Given the description of an element on the screen output the (x, y) to click on. 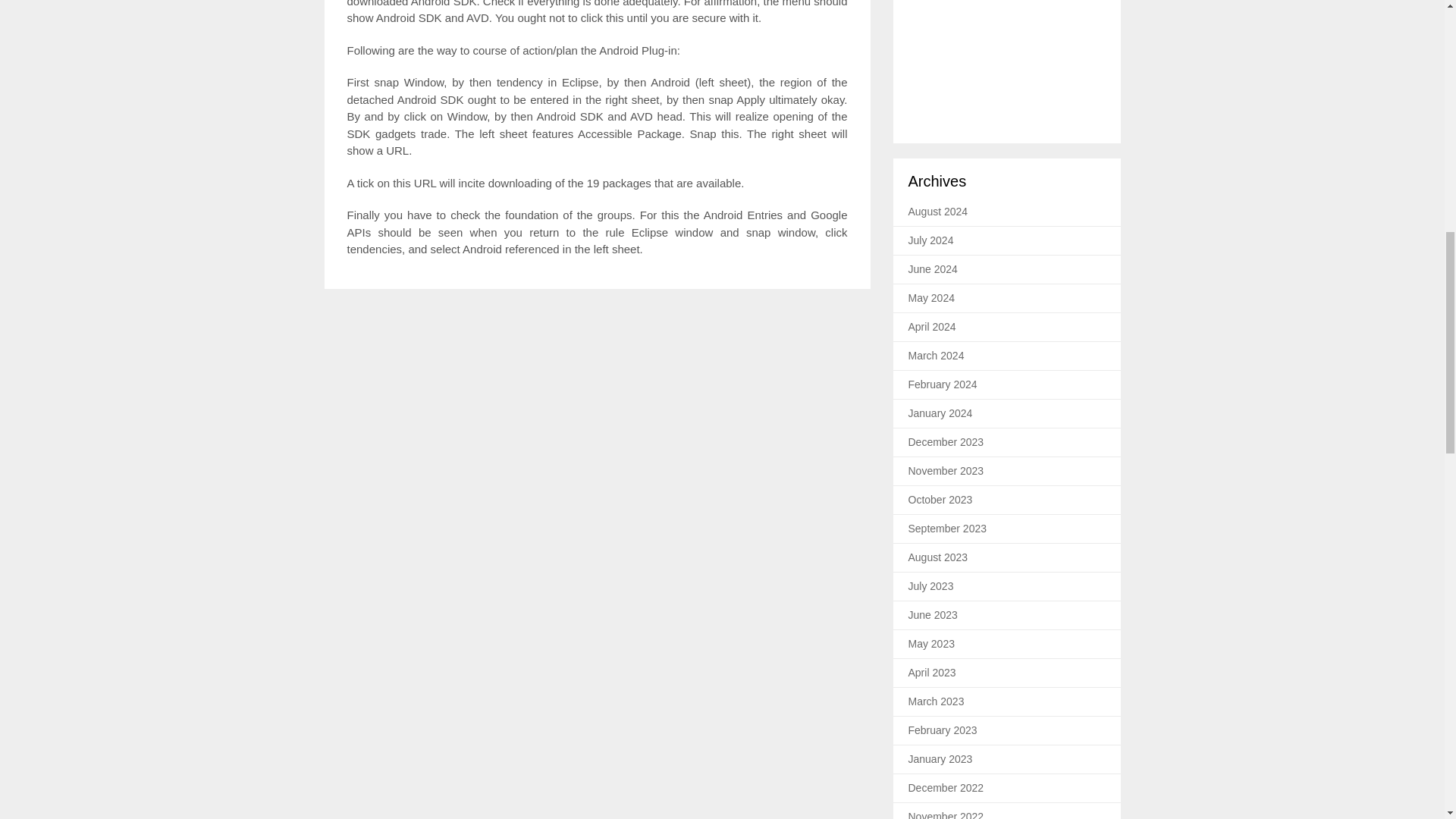
March 2024 (935, 355)
August 2024 (938, 211)
March 2023 (935, 701)
May 2024 (931, 297)
February 2024 (942, 384)
June 2023 (933, 614)
July 2023 (930, 585)
May 2023 (931, 644)
November 2023 (946, 470)
July 2024 (930, 240)
